Given the description of an element on the screen output the (x, y) to click on. 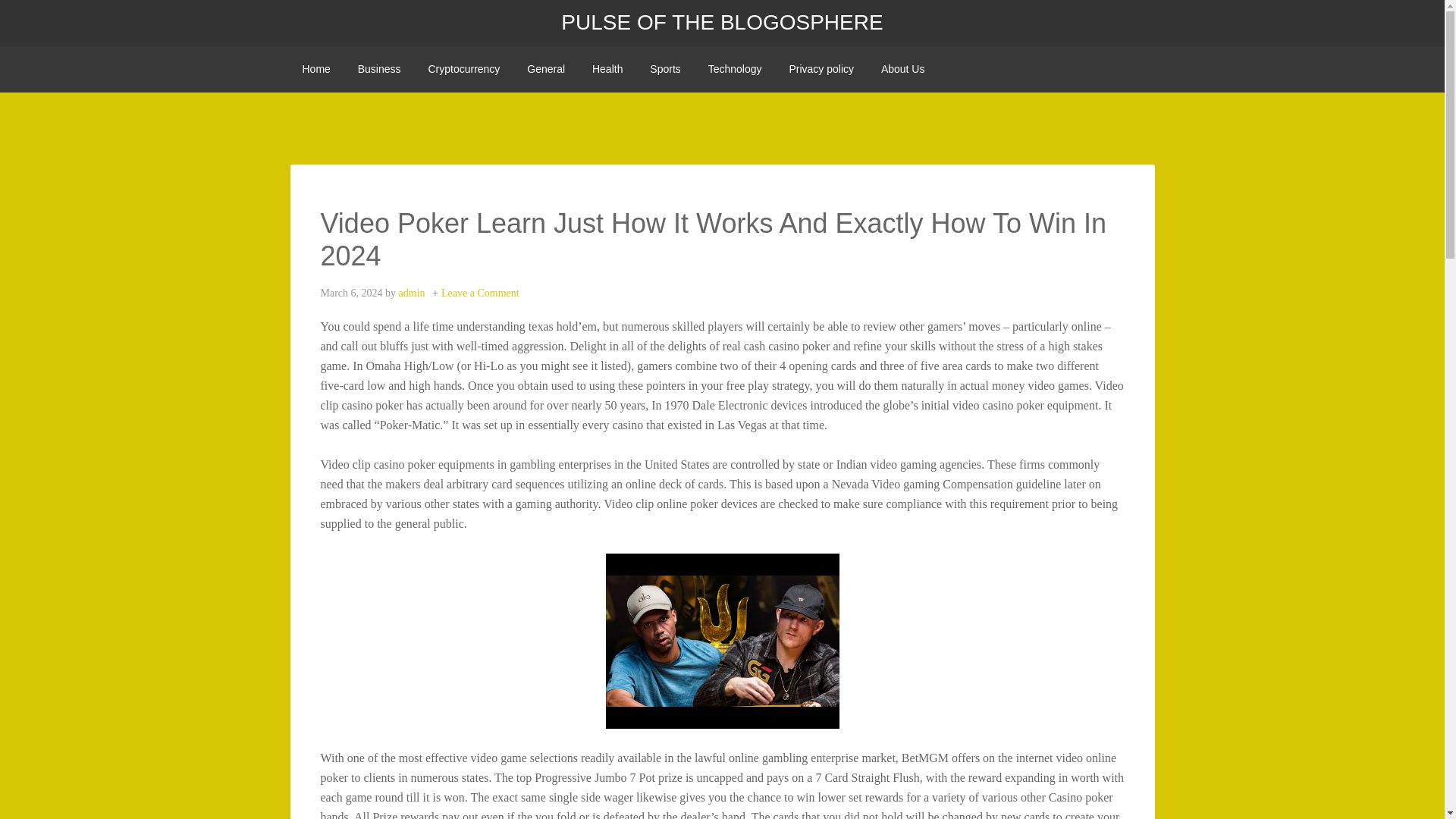
Leave a Comment (480, 292)
PULSE OF THE BLOGOSPHERE (721, 22)
Health (606, 68)
Cryptocurrency (463, 68)
Home (315, 68)
General (545, 68)
Technology (734, 68)
Business (379, 68)
admin (411, 292)
Privacy policy (821, 68)
